Given the description of an element on the screen output the (x, y) to click on. 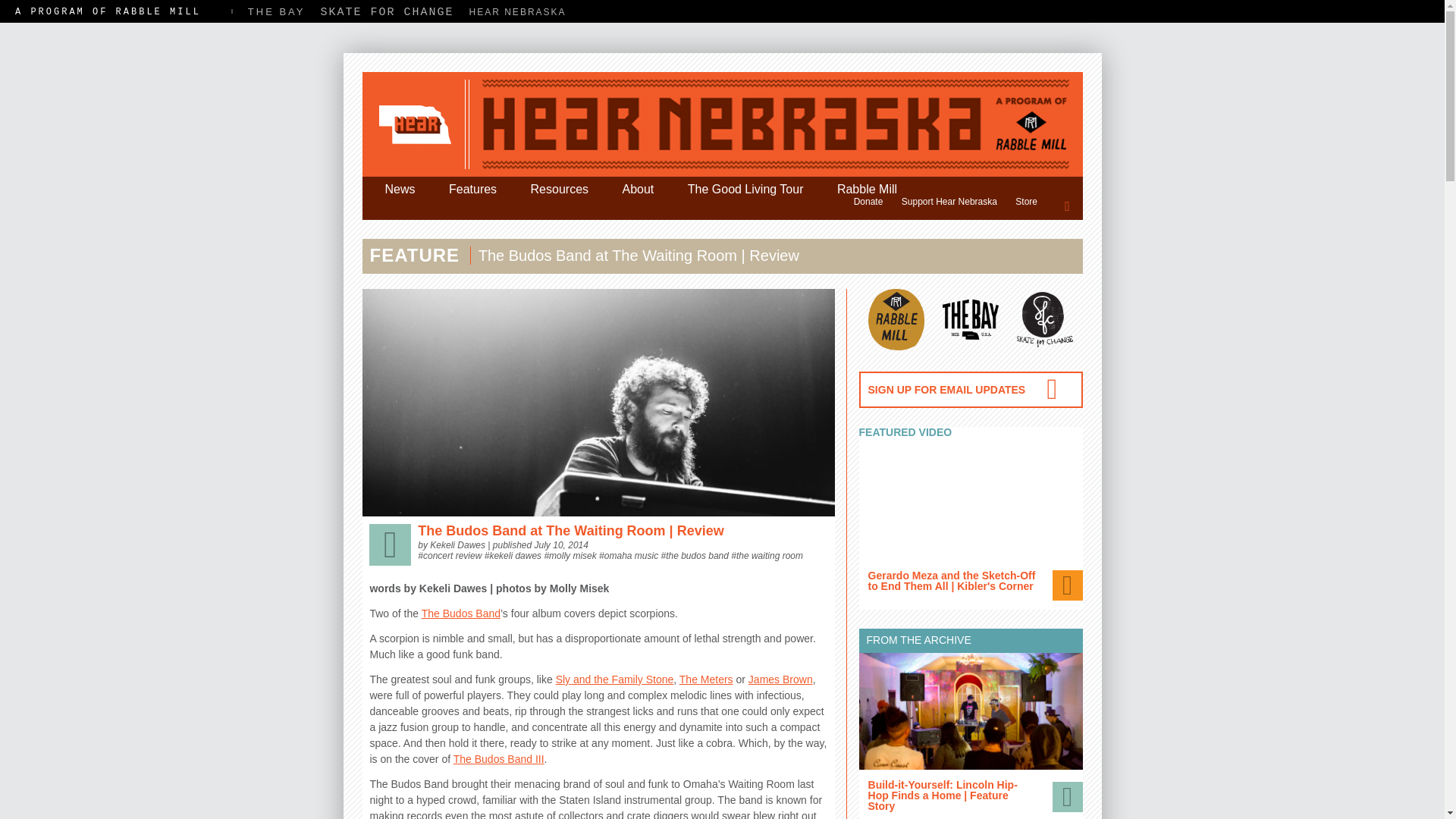
Features (472, 189)
The Meters (706, 679)
omaha music (631, 555)
molly misek (572, 555)
Store (1026, 201)
Search (1158, 204)
Hear Nebraska (722, 124)
THE BAY (276, 11)
Donate (868, 201)
Support Hear Nebraska (948, 201)
Search for: (1067, 204)
News (399, 189)
the waiting room (769, 555)
